Given the description of an element on the screen output the (x, y) to click on. 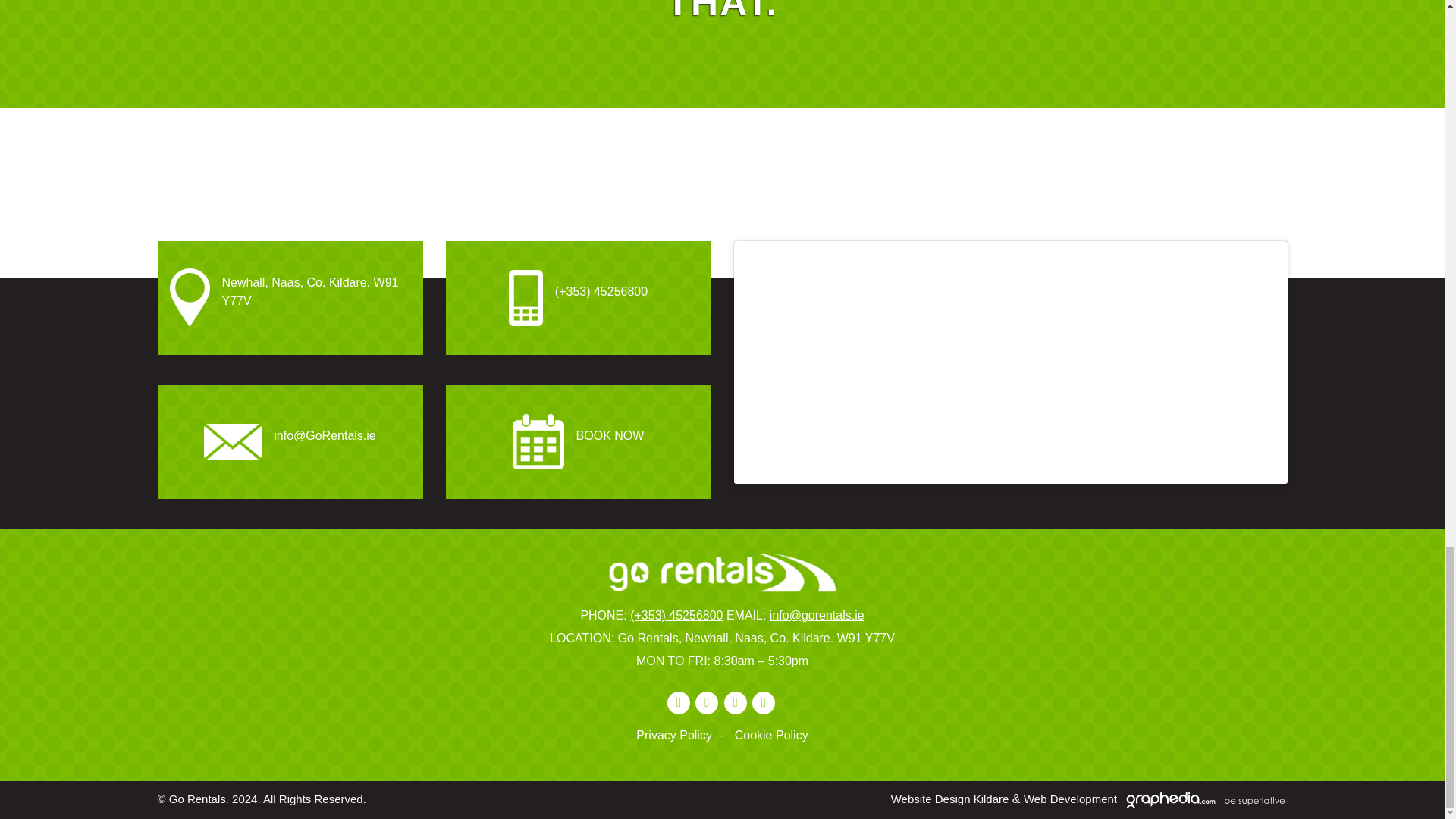
BOOK NOW (578, 441)
Privacy Policy (683, 735)
Cookie Policy (771, 735)
Website Design Kildare (950, 798)
Web Development (1069, 798)
